Given the description of an element on the screen output the (x, y) to click on. 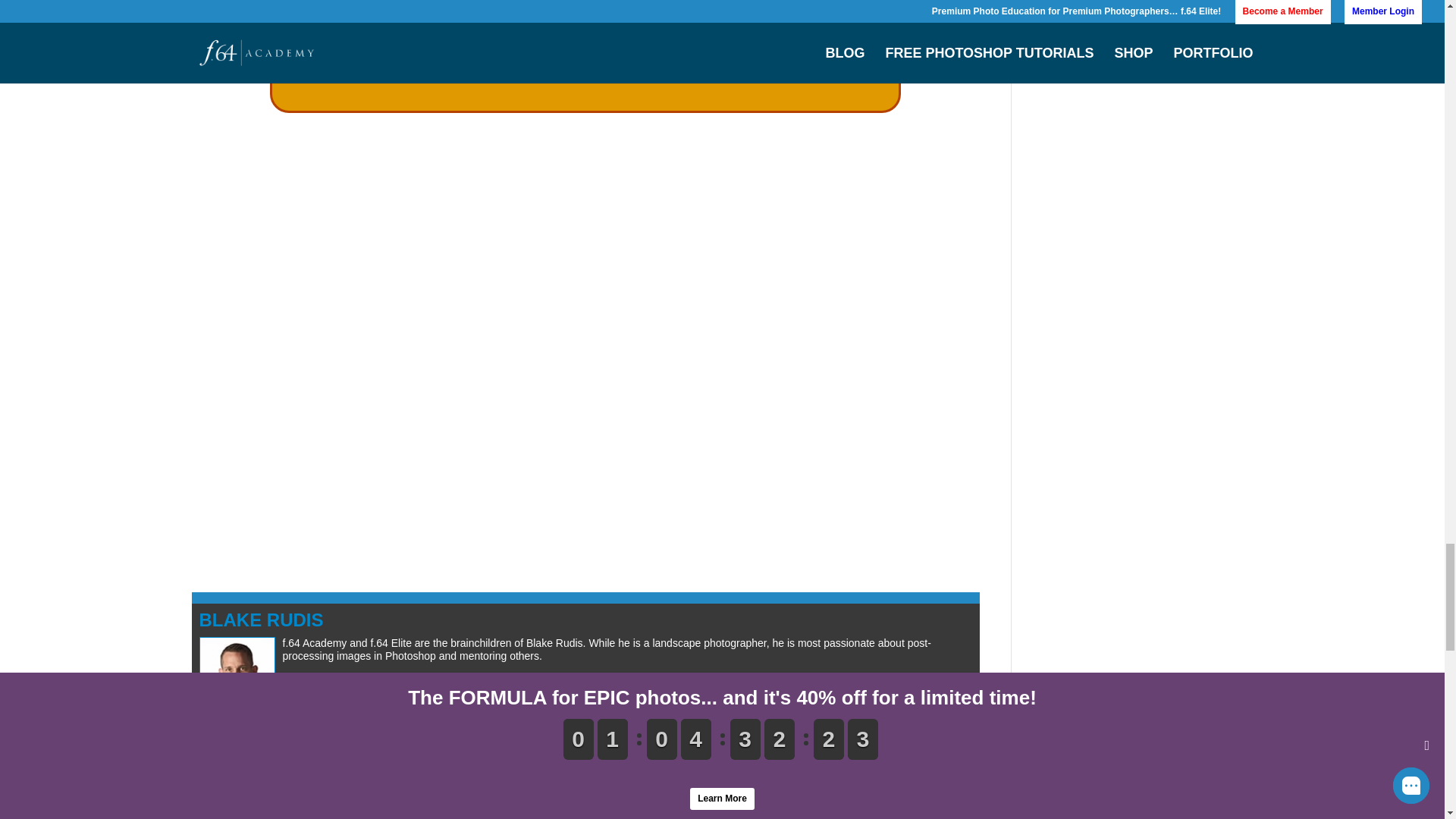
Blake Rudis (260, 619)
BLAKE RUDIS (260, 619)
I WANT TO LEARN MORE (585, 65)
